Given the description of an element on the screen output the (x, y) to click on. 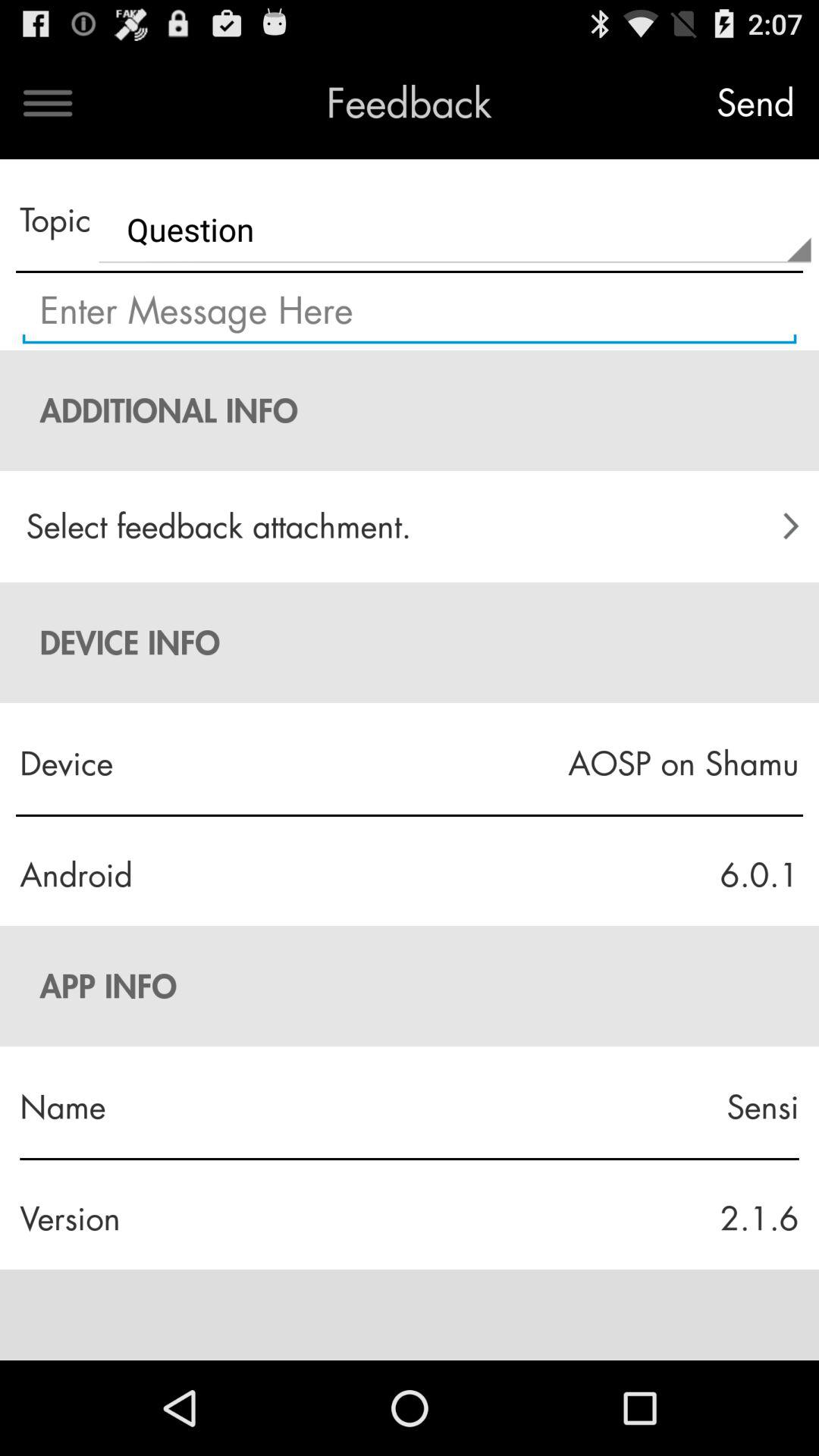
select the item at the top right corner (755, 103)
